Given the description of an element on the screen output the (x, y) to click on. 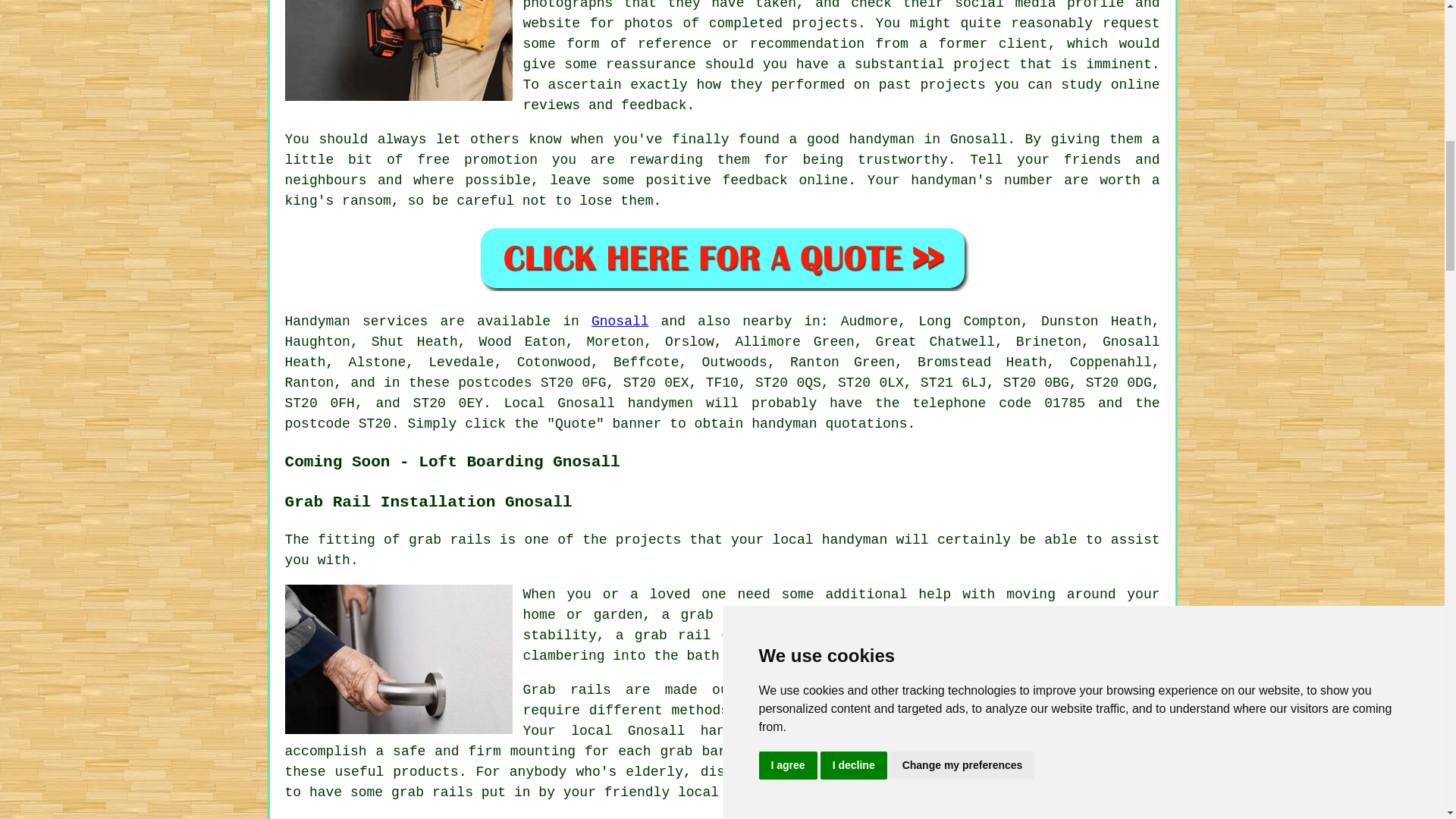
Handyman services (356, 321)
Handyman Installed Grab Rails Gnosall (398, 658)
handymen (660, 403)
handyman (783, 423)
